Given the description of an element on the screen output the (x, y) to click on. 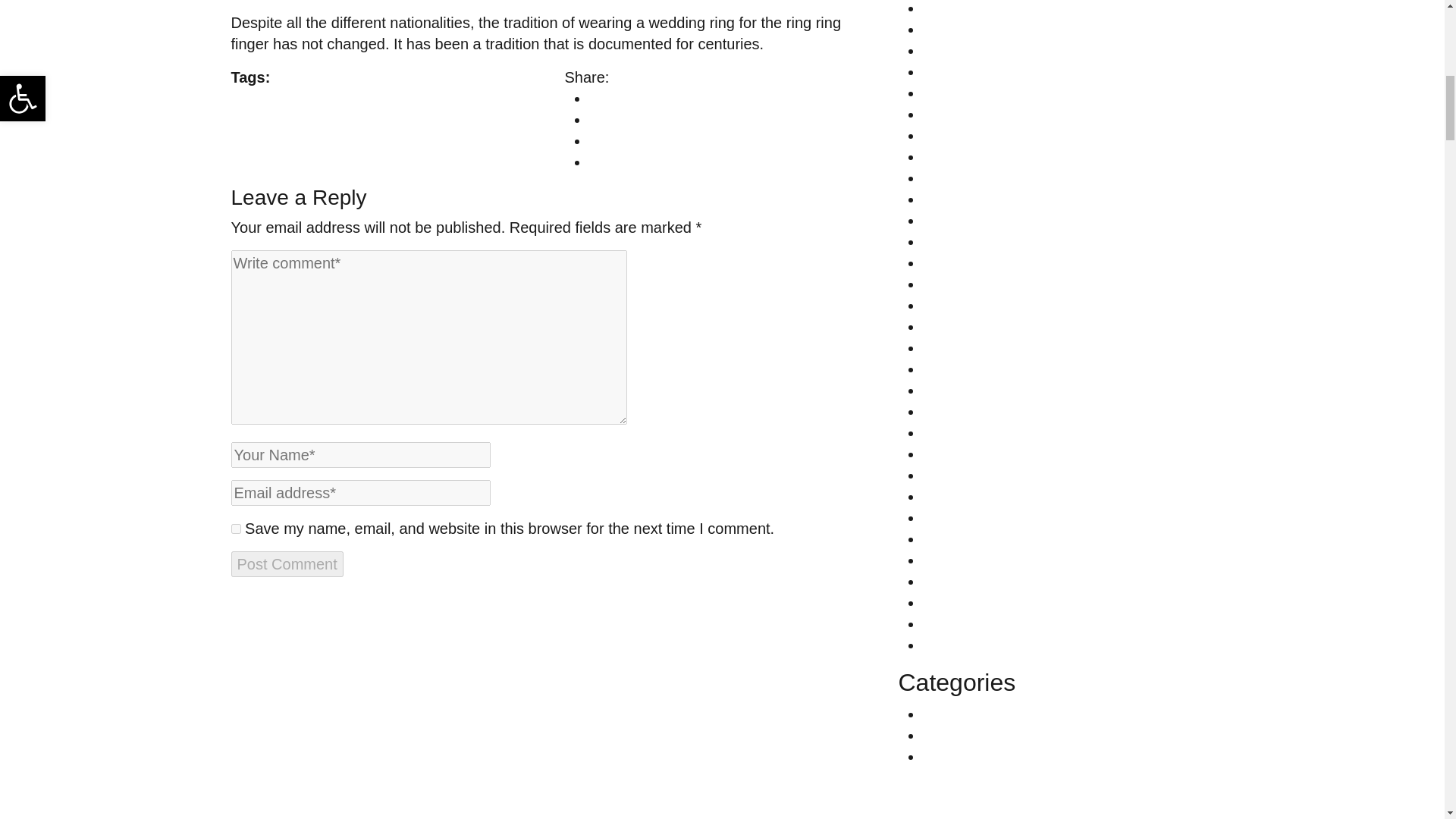
Post Comment (286, 564)
Post Comment (286, 564)
yes (235, 528)
